Given the description of an element on the screen output the (x, y) to click on. 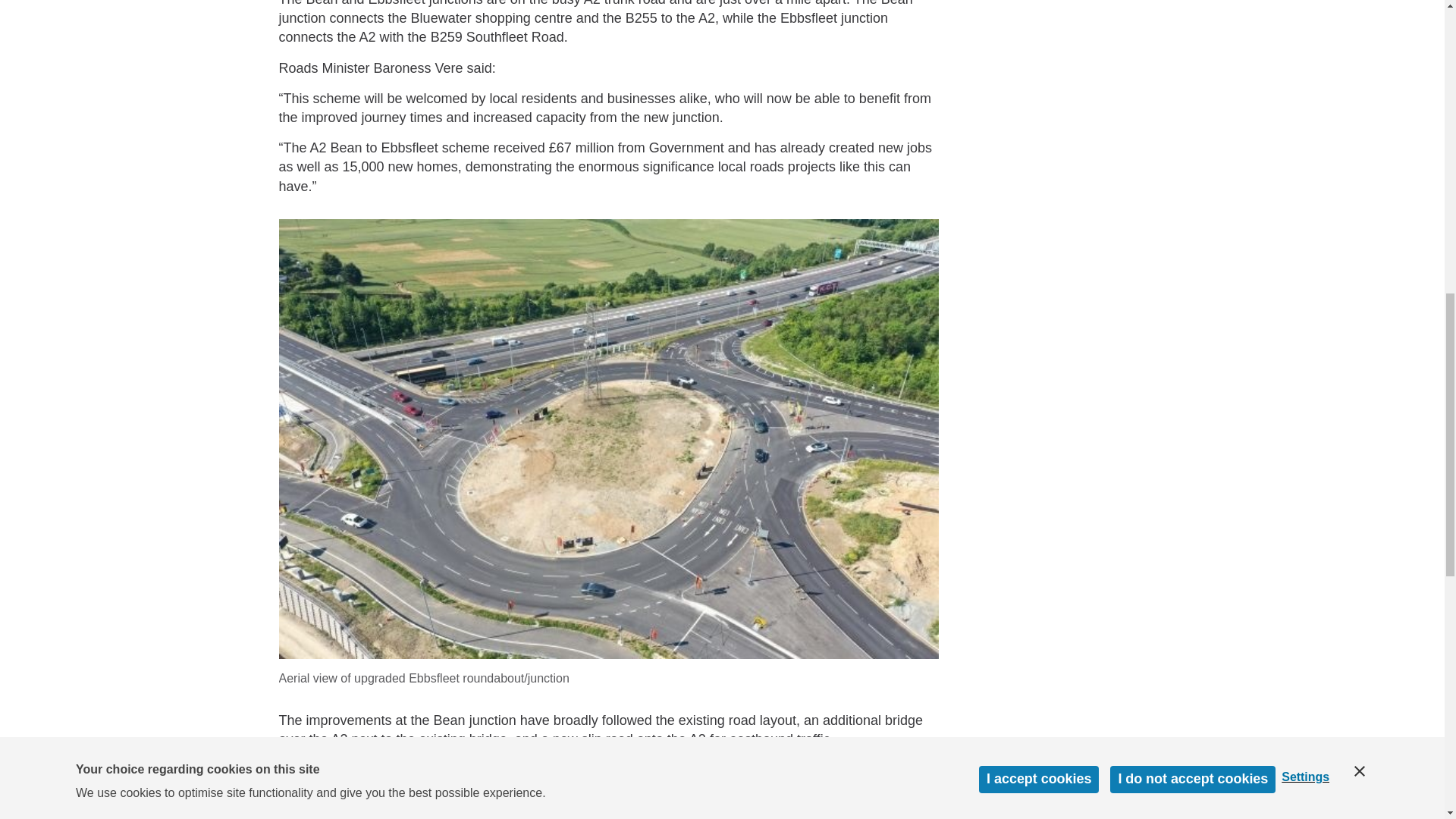
i do not accept cookies (1192, 11)
i accept cookies (1038, 23)
Settings (1312, 4)
